Given the description of an element on the screen output the (x, y) to click on. 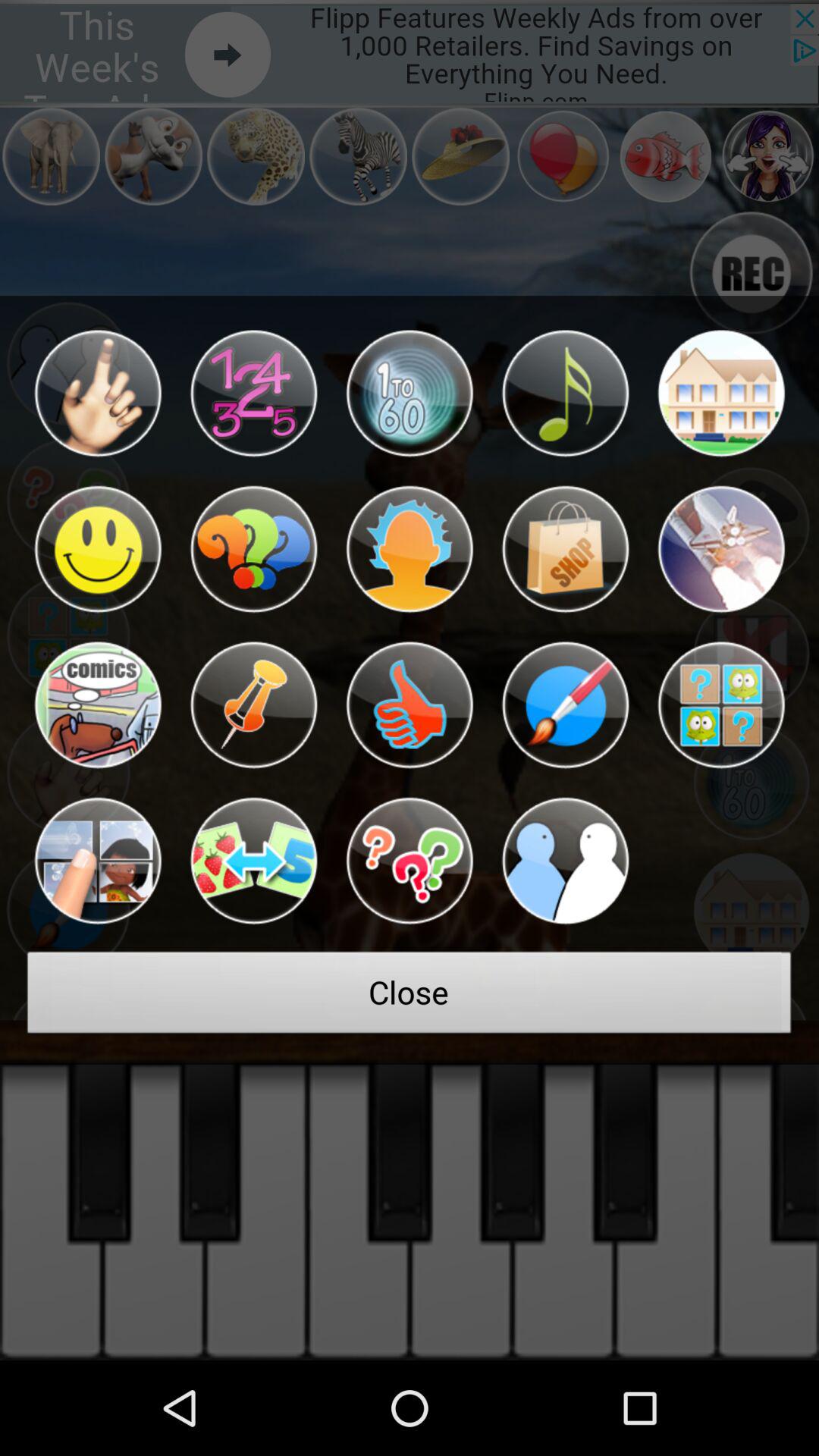
turn off item at the top (409, 393)
